Given the description of an element on the screen output the (x, y) to click on. 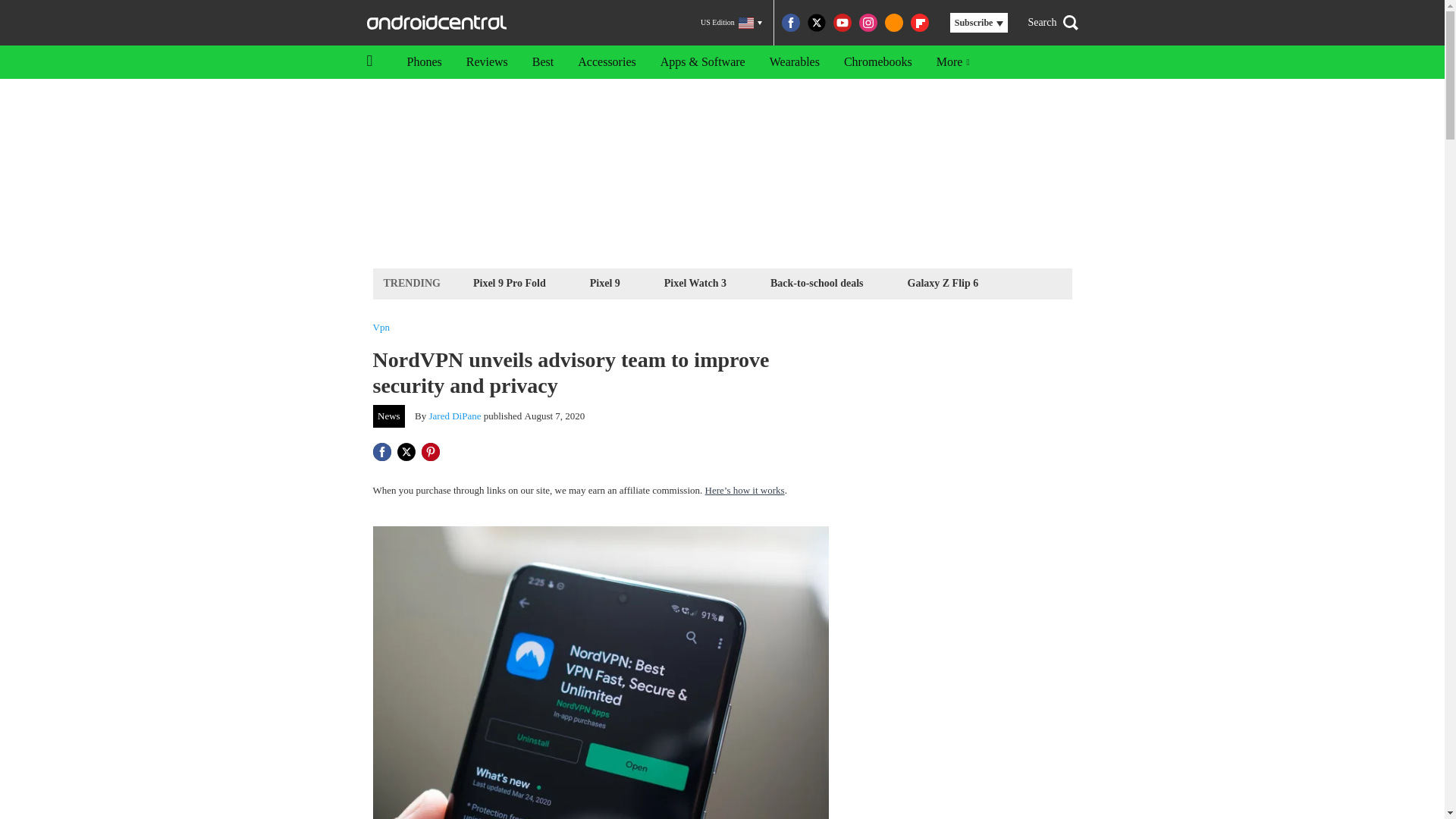
Phones (423, 61)
US Edition (731, 22)
Galaxy Z Flip 6 (943, 282)
Wearables (794, 61)
Chromebooks (877, 61)
Pixel 9 (605, 282)
Jared DiPane (455, 415)
Pixel 9 Pro Fold (509, 282)
News (389, 415)
Accessories (606, 61)
